Given the description of an element on the screen output the (x, y) to click on. 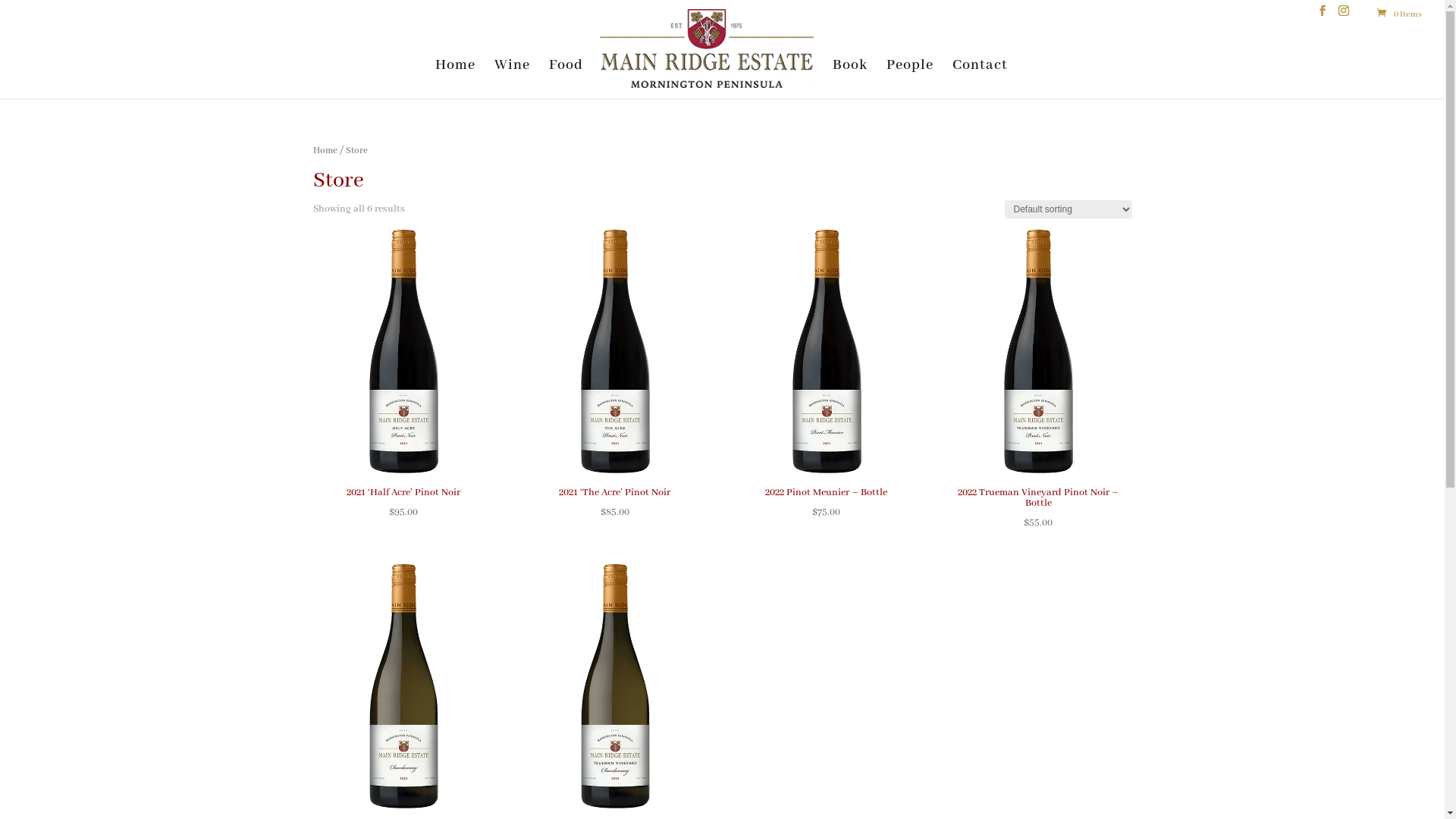
0 Items Element type: text (1398, 14)
People Element type: text (909, 75)
Book Element type: text (849, 75)
Food Element type: text (566, 75)
Home Element type: text (324, 150)
Wine Element type: text (512, 75)
Contact Element type: text (979, 75)
Home Element type: text (455, 75)
